Given the description of an element on the screen output the (x, y) to click on. 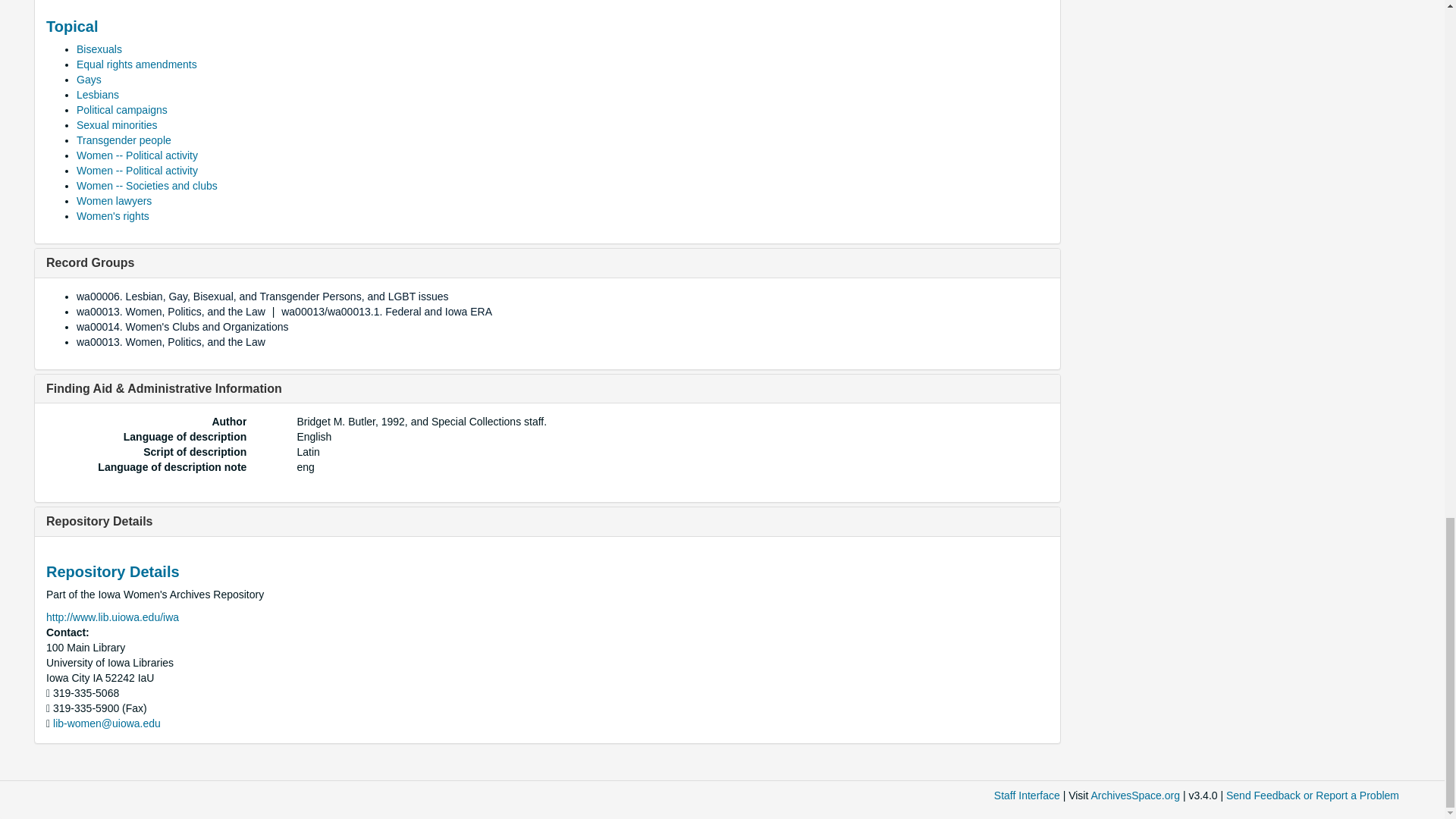
1981-1990 (102, 0)
Send email (106, 723)
Gays (89, 79)
Political campaigns (122, 110)
Equal rights amendments (136, 64)
Lesbians (98, 94)
Bisexuals (99, 49)
